Given the description of an element on the screen output the (x, y) to click on. 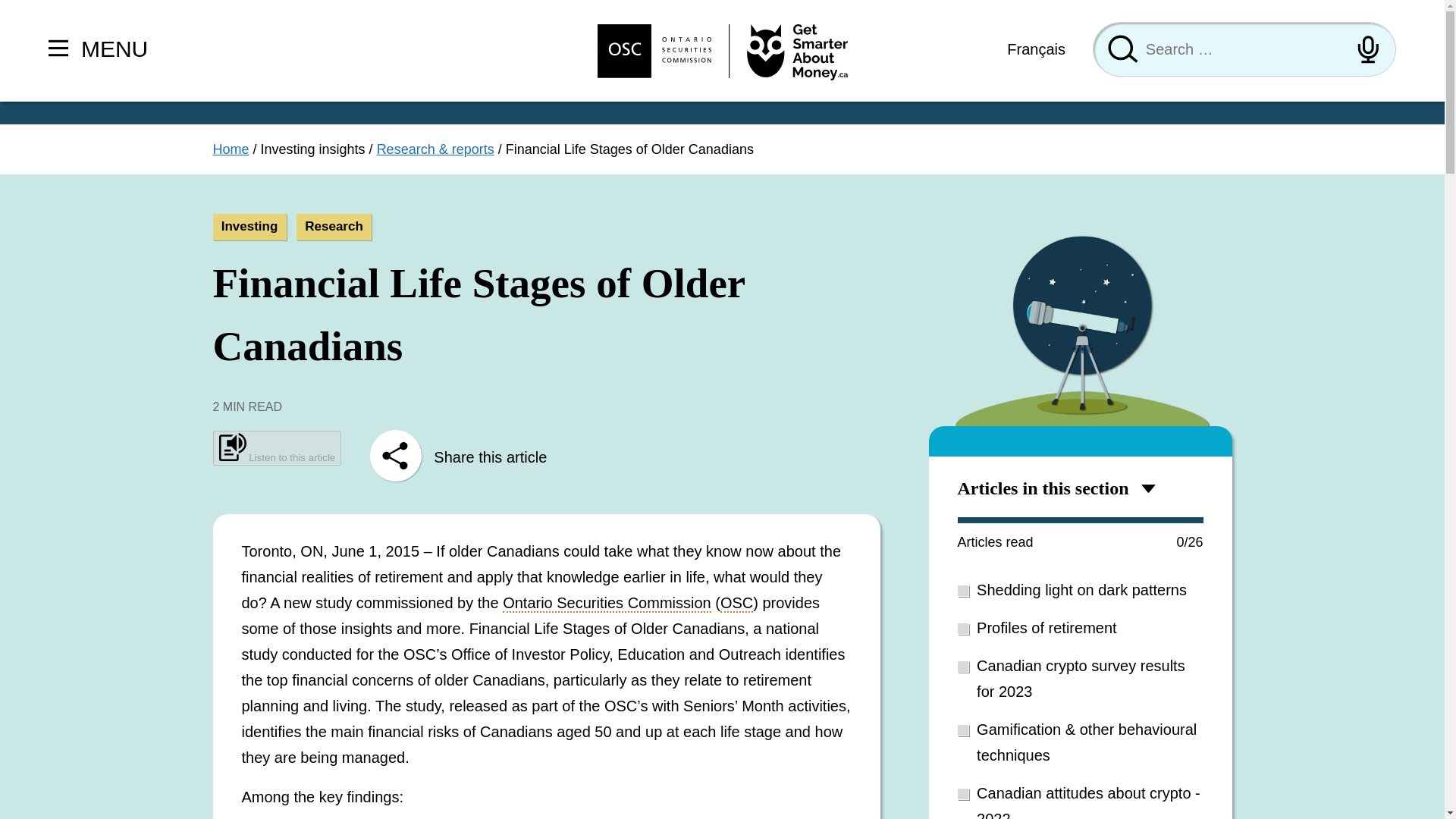
MENU (98, 48)
